Given the description of an element on the screen output the (x, y) to click on. 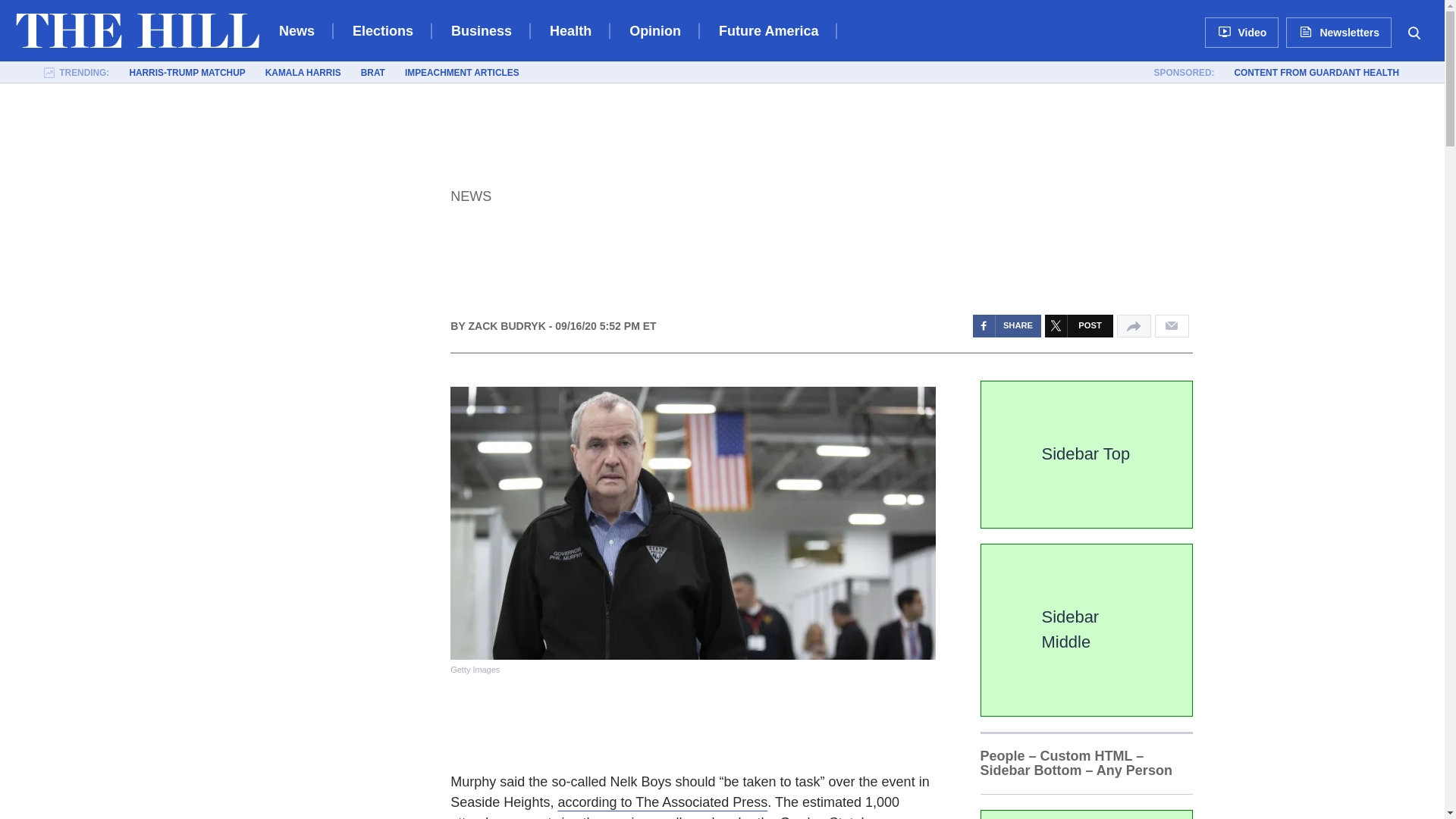
Elections (382, 30)
Business (481, 30)
News (296, 30)
Search (1414, 31)
News (470, 196)
